Given the description of an element on the screen output the (x, y) to click on. 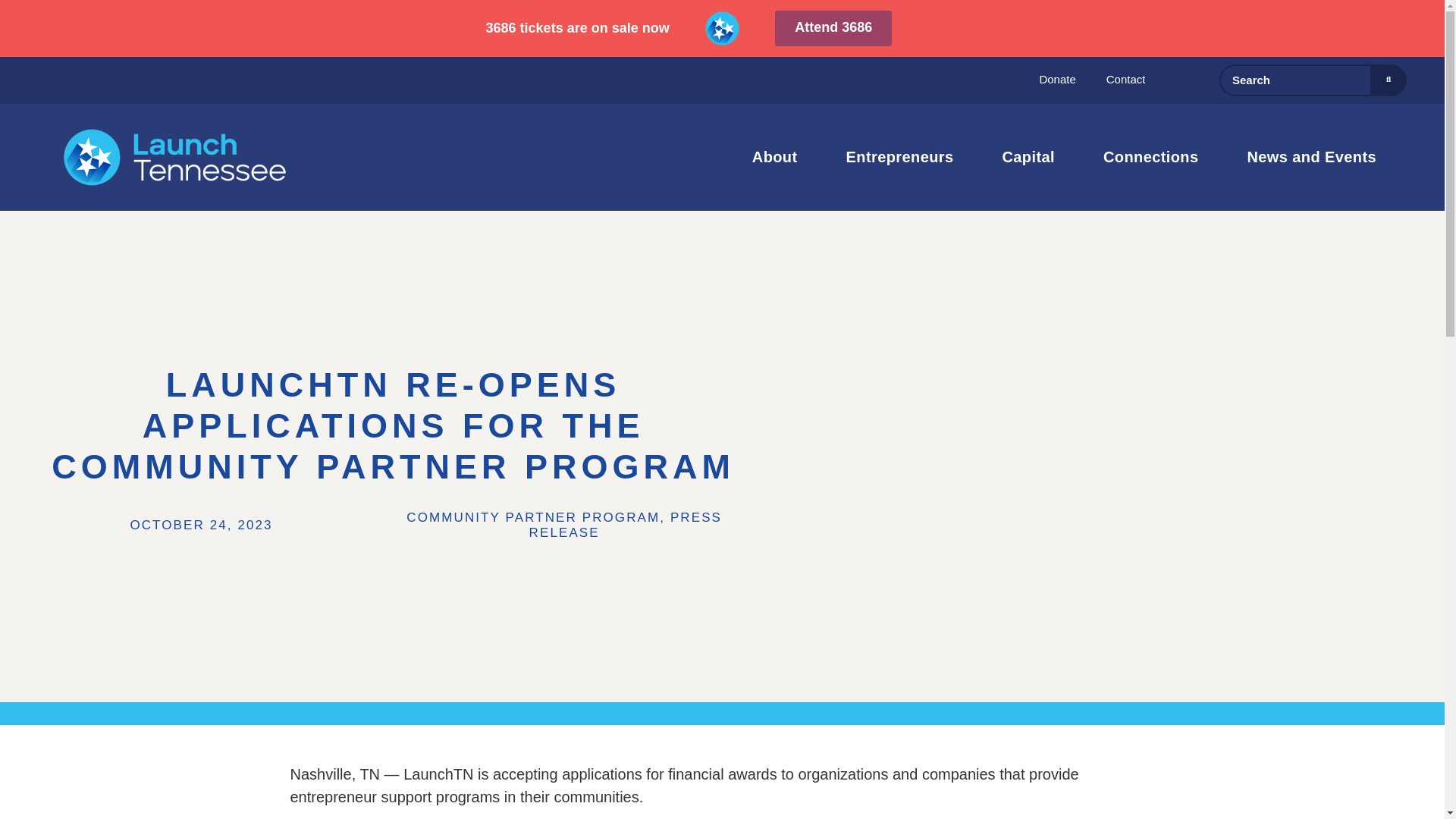
Capital (1032, 156)
Donate (1057, 79)
Contact (1125, 79)
Entrepreneurs (903, 156)
About (778, 156)
Connections (1154, 156)
Attend 3686 (832, 27)
